Given the description of an element on the screen output the (x, y) to click on. 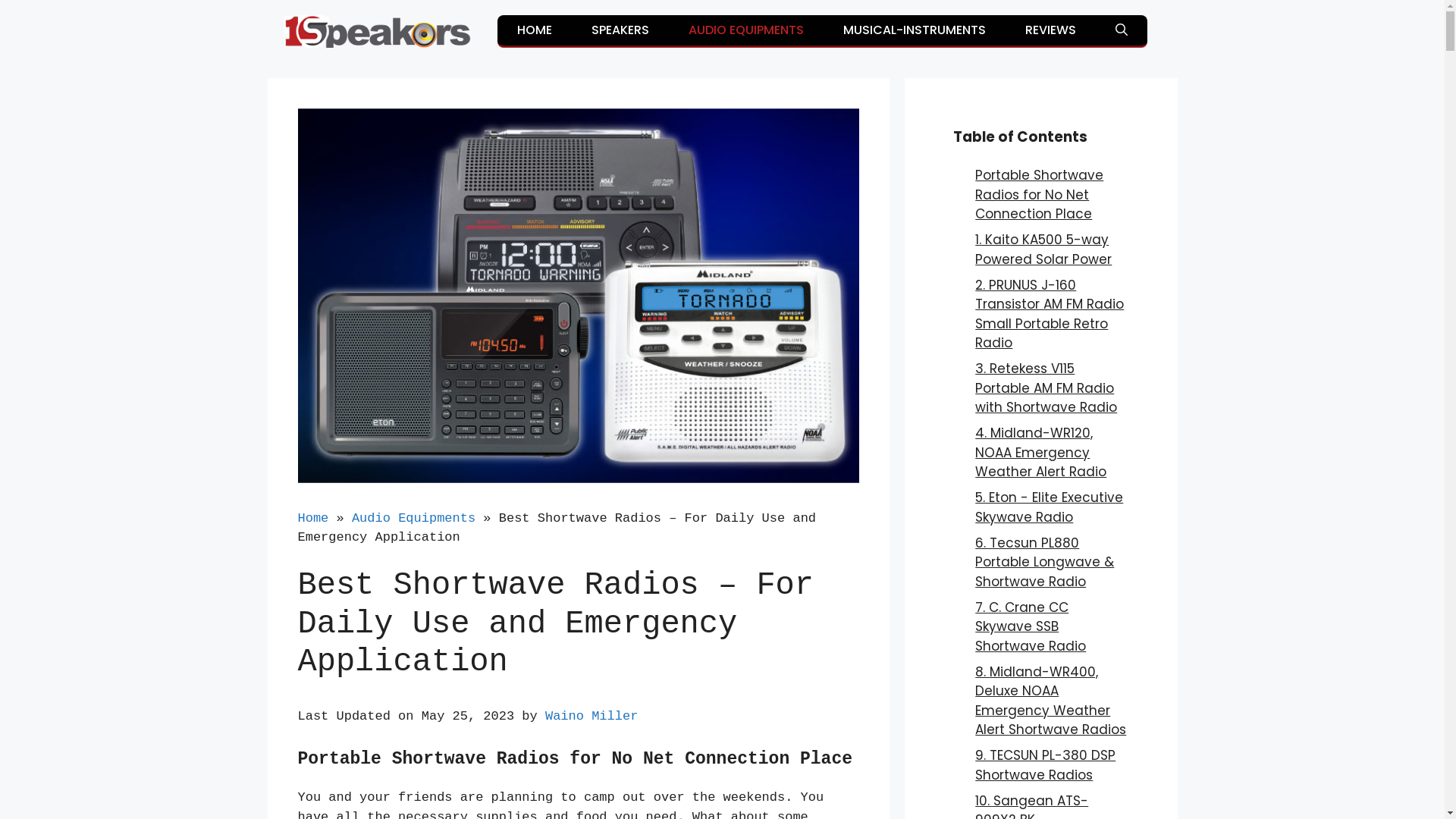
4. Midland-WR120, NOAA Emergency Weather Alert Radio Element type: text (1040, 451)
1. Kaito KA500 5-way Powered Solar Power Element type: text (1043, 249)
SPEAKERS Element type: text (619, 30)
7. C. Crane CC Skywave SSB Shortwave Radio Element type: text (1030, 626)
Portable Shortwave Radios for No Net Connection Place Element type: text (1039, 194)
9. TECSUN PL-380 DSP Shortwave Radios Element type: text (1045, 765)
Audio Equipments Element type: text (413, 518)
3. Retekess V115 Portable AM FM Radio with Shortwave Radio Element type: text (1046, 387)
Waino Miller Element type: text (591, 716)
HOME Element type: text (534, 30)
REVIEWS Element type: text (1050, 30)
AUDIO EQUIPMENTS Element type: text (745, 30)
5. Eton - Elite Executive Skywave Radio Element type: text (1049, 507)
6. Tecsun PL880 Portable Longwave & Shortwave Radio Element type: text (1044, 561)
Home Element type: text (312, 518)
MUSICAL-INSTRUMENTS Element type: text (914, 30)
